Given the description of an element on the screen output the (x, y) to click on. 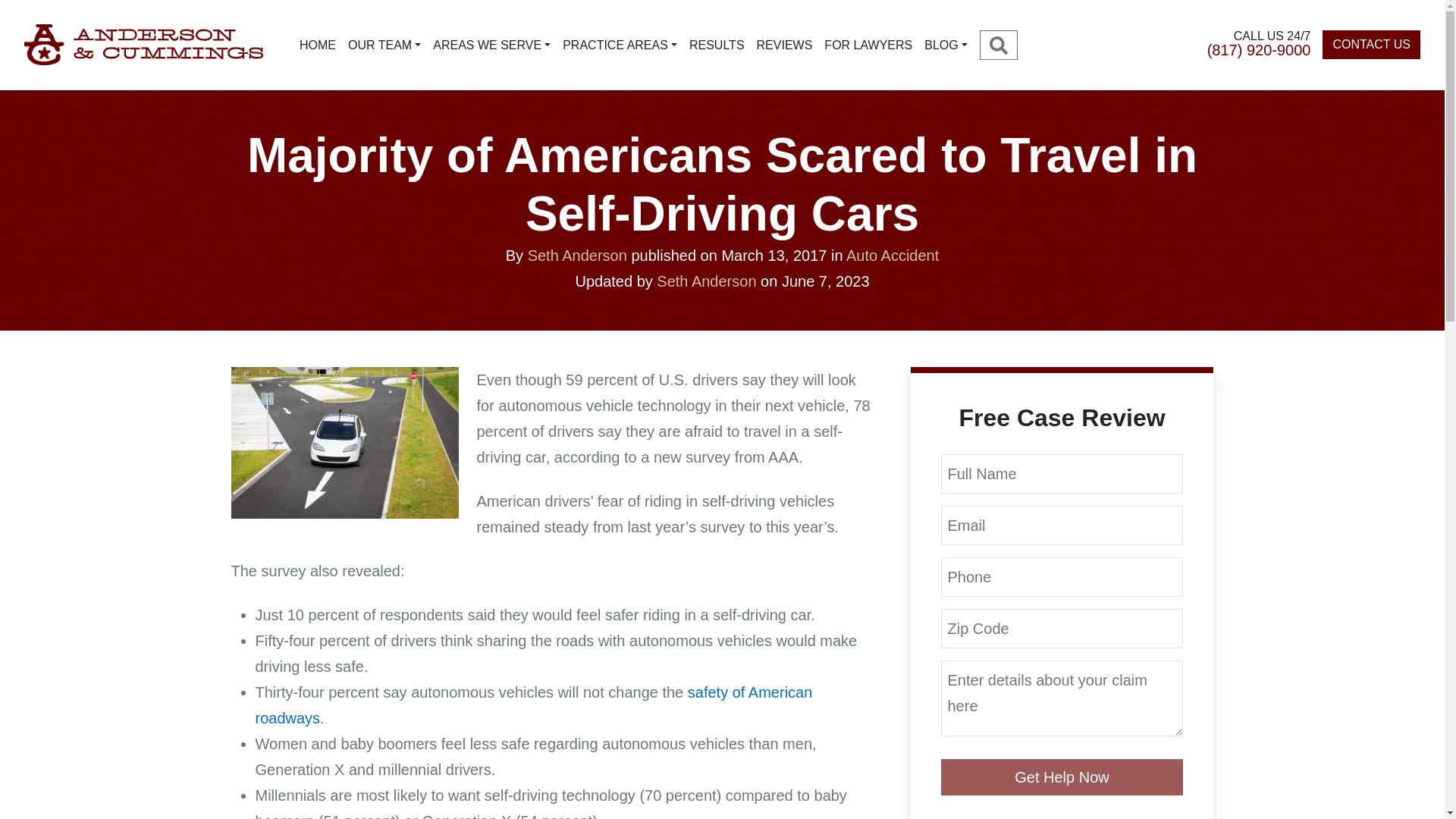
OUR TEAM (384, 44)
AREAS WE SERVE (491, 44)
PRACTICE AREAS (619, 44)
Get Help Now (1061, 777)
HOME (318, 44)
